Given the description of an element on the screen output the (x, y) to click on. 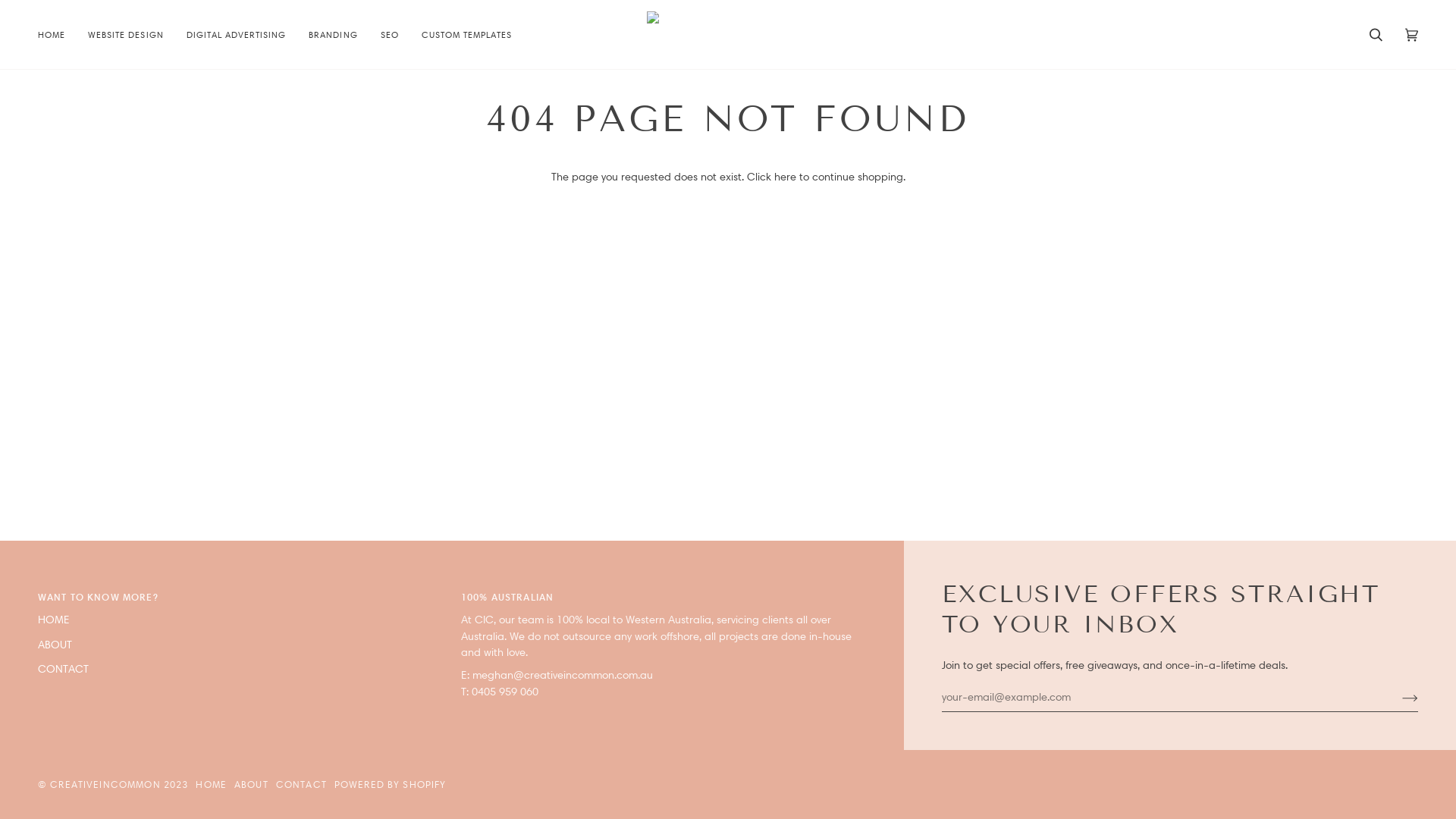
POWERED BY SHOPIFY Element type: text (390, 784)
Cart
(0) Element type: text (1411, 34)
Search Element type: text (1375, 34)
HOME Element type: text (53, 619)
SEO Element type: text (389, 34)
ABOUT Element type: text (251, 784)
HOME Element type: text (210, 784)
here Element type: text (784, 176)
CUSTOM TEMPLATES Element type: text (467, 34)
CREATIVEINCOMMON Element type: text (105, 784)
ABOUT Element type: text (54, 644)
DIGITAL ADVERTISING Element type: text (236, 34)
WEBSITE DESIGN Element type: text (125, 34)
CONTACT Element type: text (62, 668)
BRANDING Element type: text (332, 34)
CONTACT Element type: text (301, 784)
HOME Element type: text (56, 34)
